Given the description of an element on the screen output the (x, y) to click on. 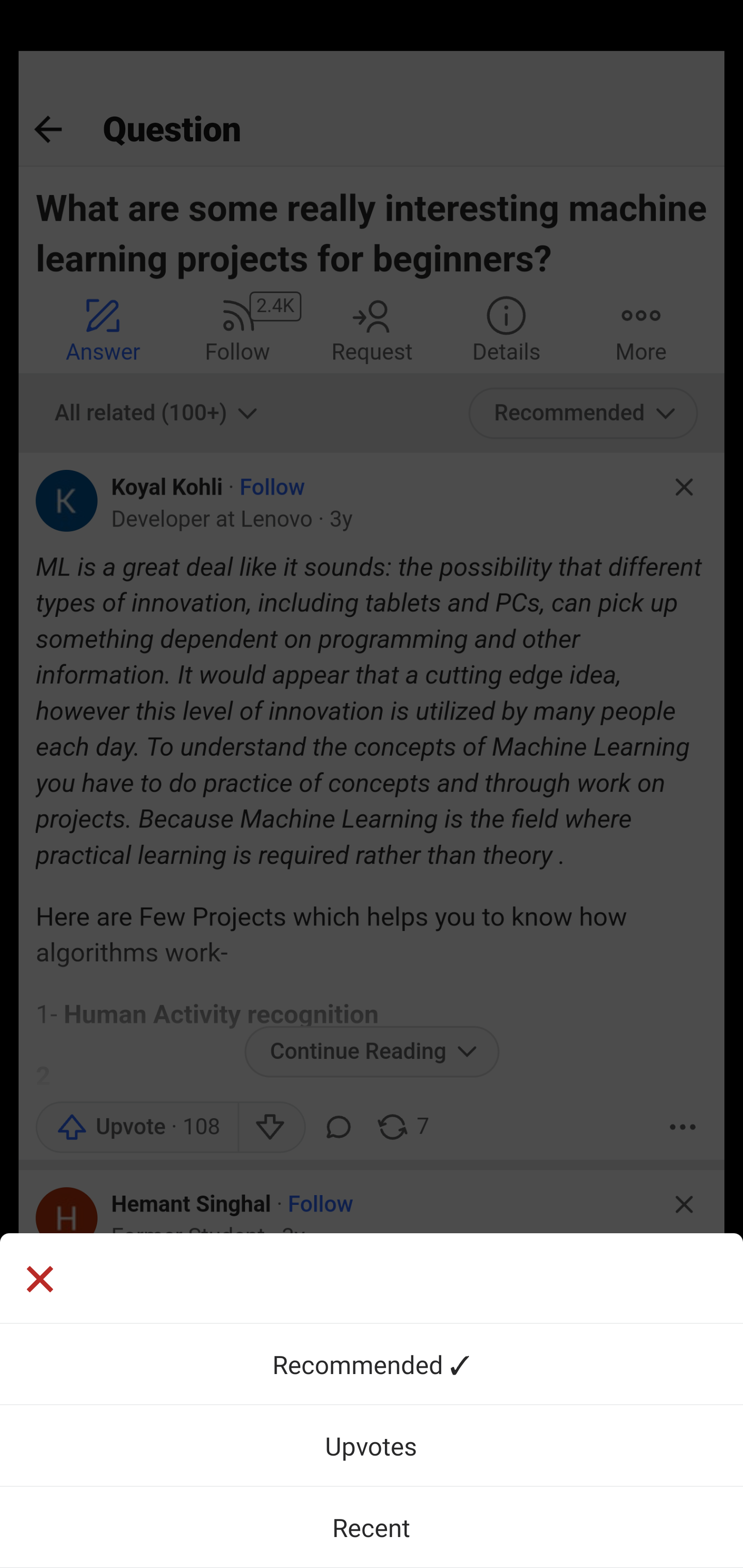
Continue Reading (371, 1096)
 (371, 1278)
Recommended ✓ (371, 1363)
Upvotes (371, 1445)
Recent (371, 1527)
